Given the description of an element on the screen output the (x, y) to click on. 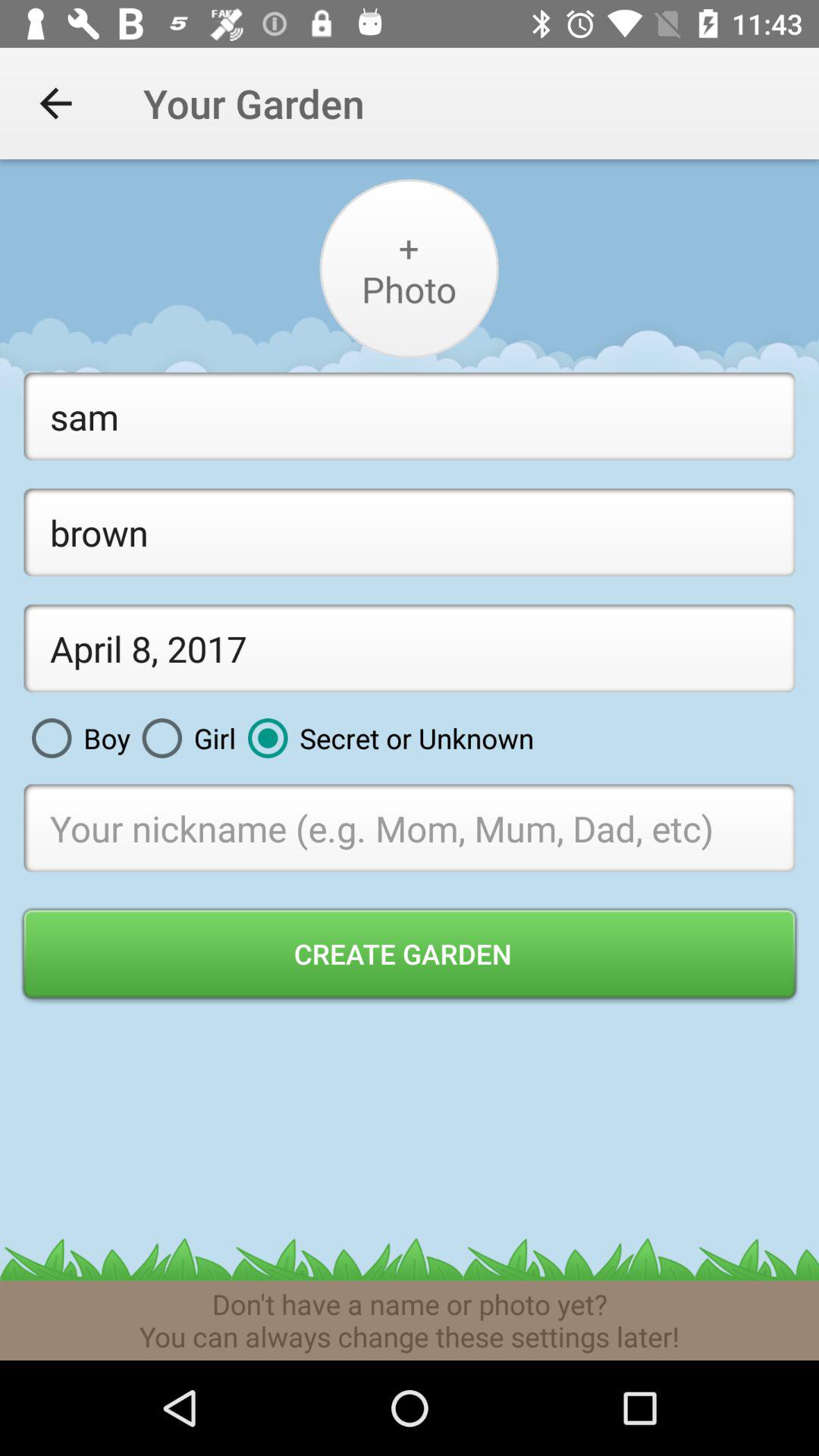
enter a nickname (409, 827)
